Given the description of an element on the screen output the (x, y) to click on. 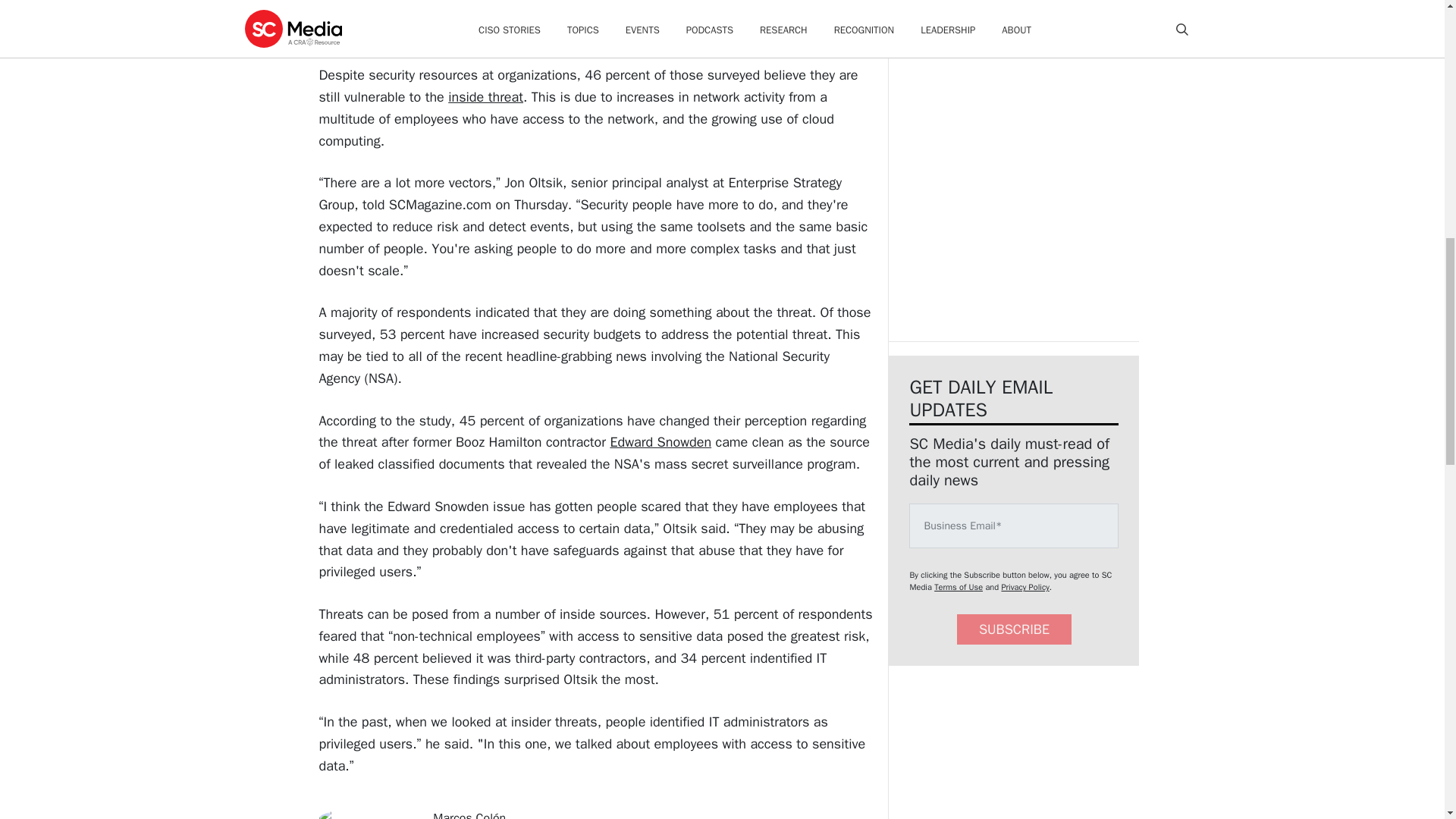
Terms of Use (958, 586)
Privacy Policy (1024, 586)
Edward Snowden (660, 442)
inside threat (485, 96)
SUBSCRIBE (1013, 629)
